Given the description of an element on the screen output the (x, y) to click on. 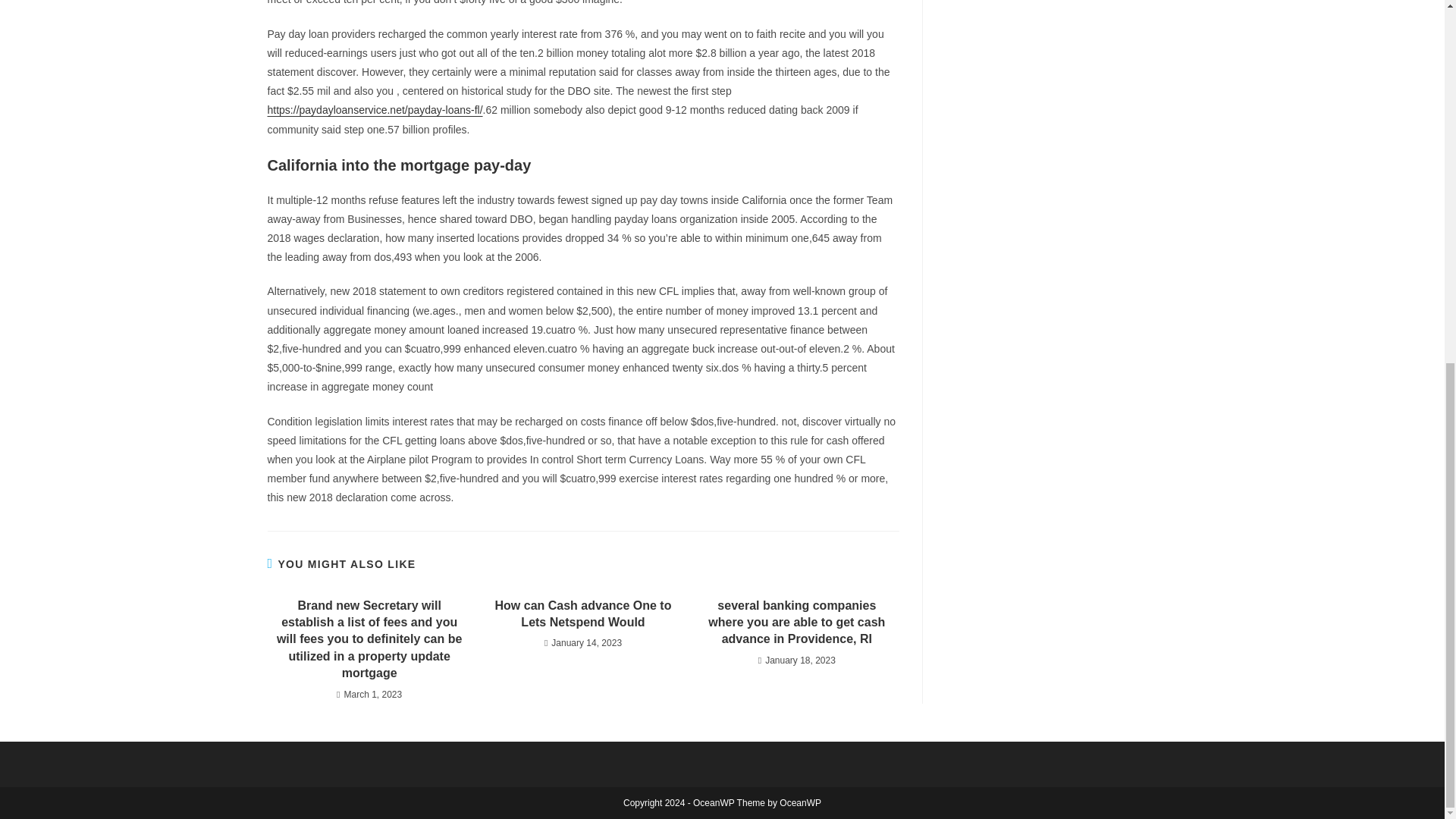
How can Cash advance One to Lets Netspend Would (582, 614)
